Given the description of an element on the screen output the (x, y) to click on. 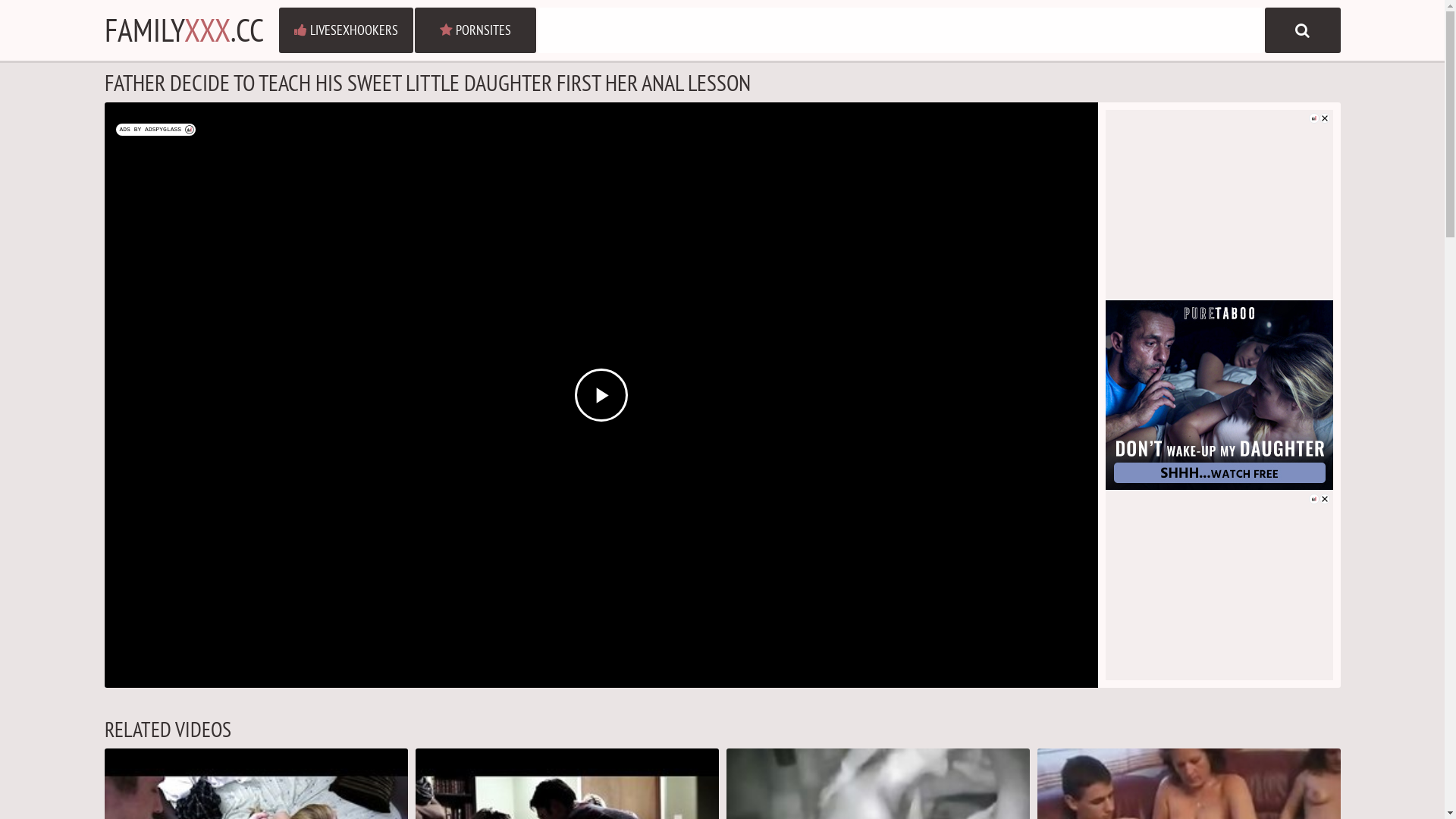
PORNSITES Element type: text (474, 30)
ADS BY ADSPYGLASS Element type: text (155, 129)
LIVESEXHOOKERS Element type: text (346, 30)
FAMILYXXX.CC Element type: text (183, 30)
Find Element type: hover (1302, 30)
Play Video Element type: text (600, 394)
